Given the description of an element on the screen output the (x, y) to click on. 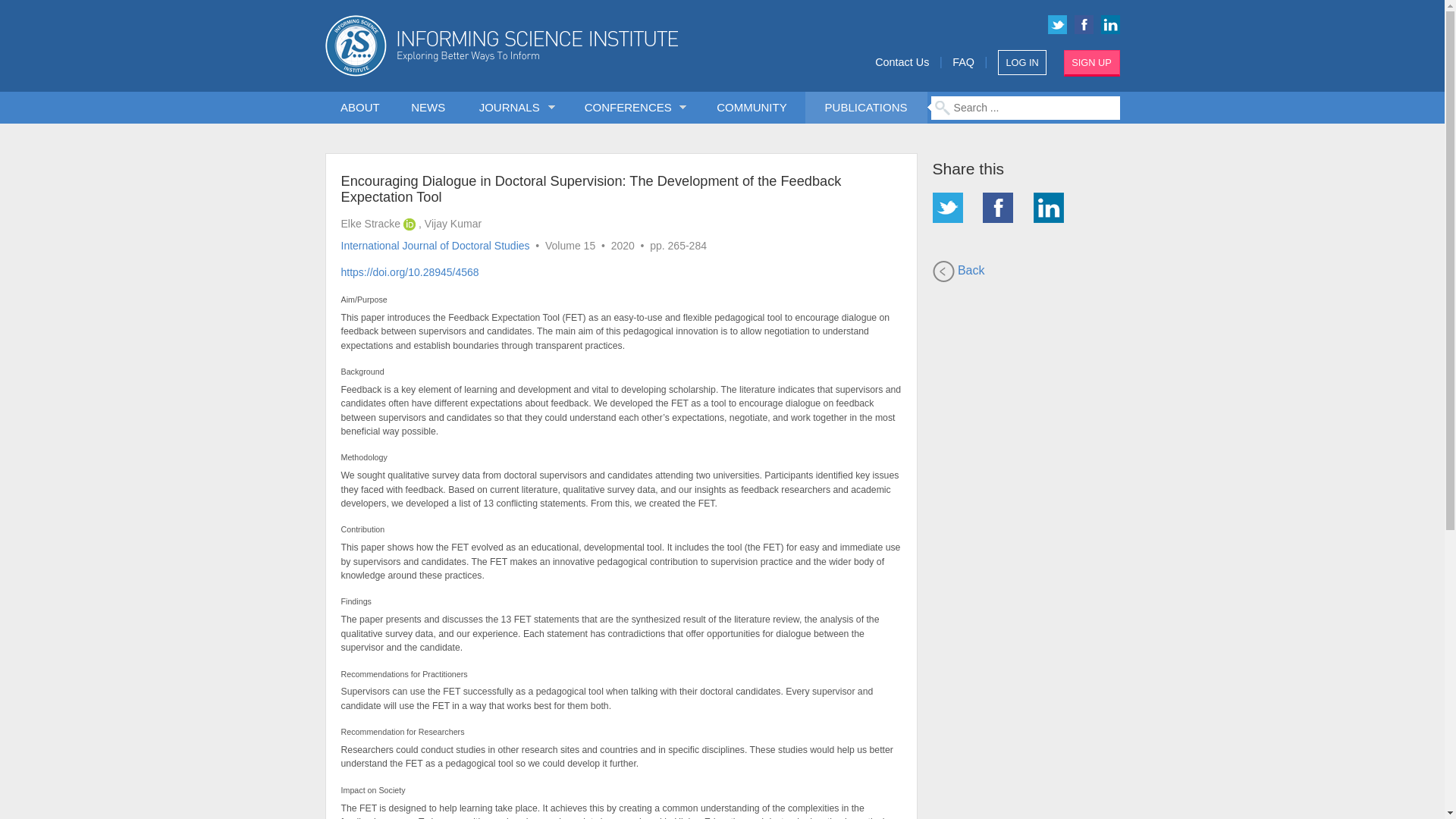
LOG IN (1021, 62)
PUBLICATIONS (865, 107)
CONFERENCES   (631, 107)
JOURNALS   (512, 107)
FAQ (963, 61)
Contact Us (901, 61)
NEWS (428, 107)
ISI Home (552, 45)
COMMUNITY (751, 107)
ABOUT (360, 107)
